Given the description of an element on the screen output the (x, y) to click on. 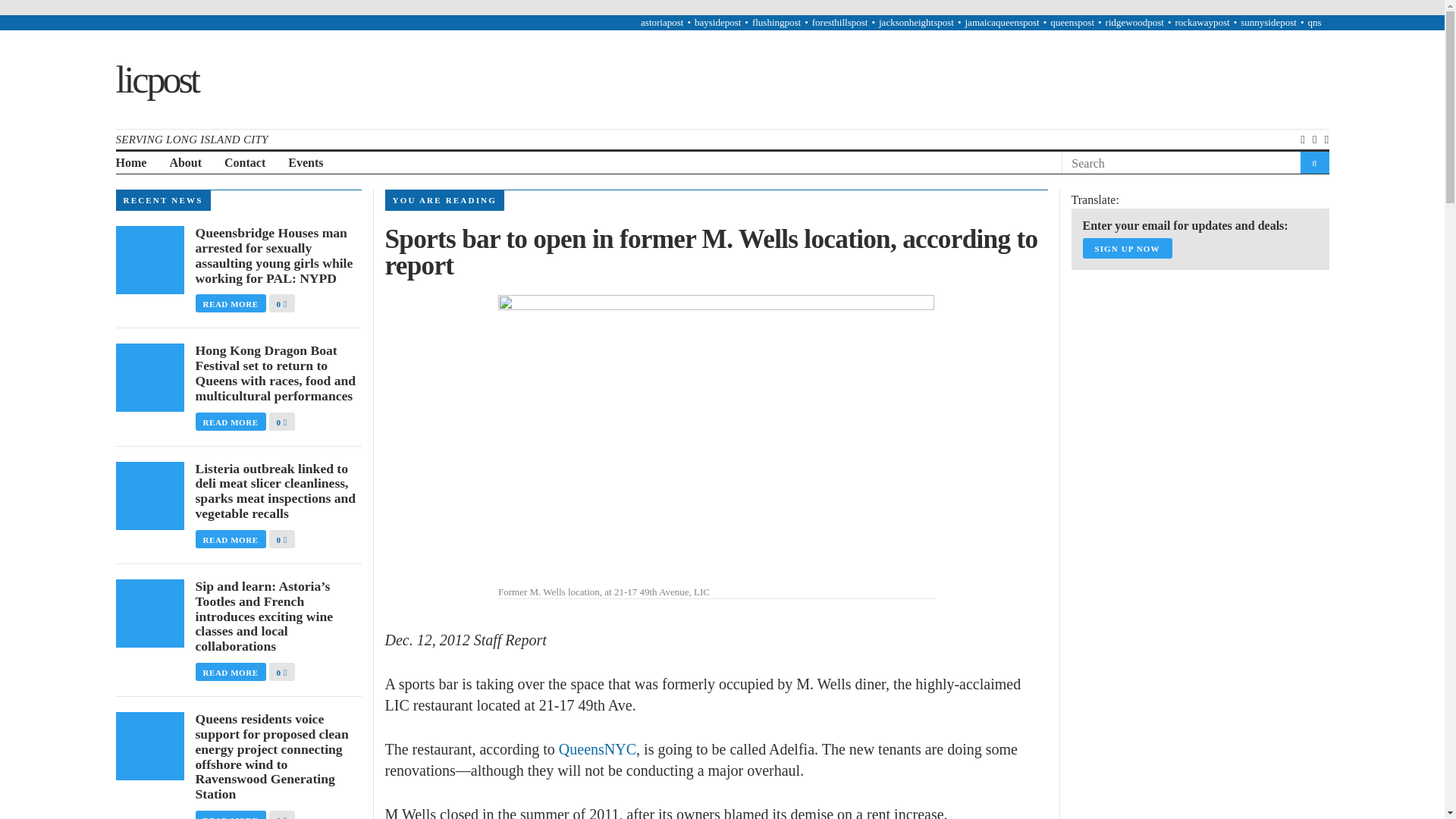
Contact (244, 163)
About (185, 163)
baysidepost (717, 21)
queenspost (1071, 21)
sunnysidepost (1268, 21)
M-Wells (715, 440)
flushingpost (776, 21)
jacksonheightspost (916, 21)
qns (1313, 21)
ridgewoodpost (1134, 21)
rockawaypost (1201, 21)
foresthillspost (839, 21)
QueensNYC (597, 749)
jamaicaqueenspost (1001, 21)
Events (305, 163)
